Given the description of an element on the screen output the (x, y) to click on. 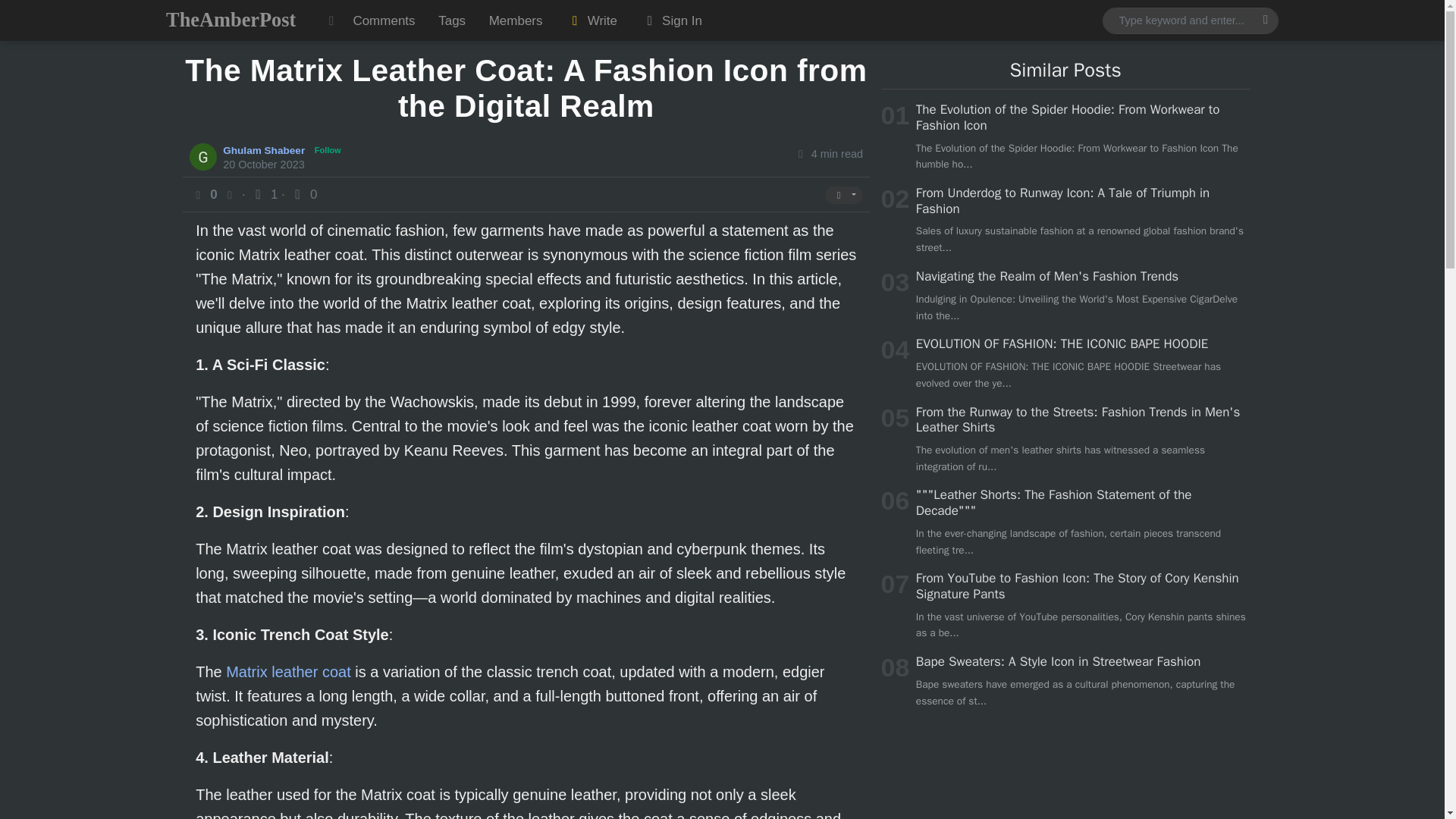
Matrix leather coat (287, 671)
Sign In (670, 20)
Members (515, 20)
"""Leather Shorts: The Fashion Statement of the Decade""" (1053, 501)
Ghulam Shabeer (265, 149)
Toggle dark mode (330, 20)
From Underdog to Runway Icon: A Tale of Triumph in Fashion (1062, 200)
Bape Sweaters: A Style Icon in Streetwear Fashion (1057, 661)
TheAmberPost (230, 20)
Tags (451, 20)
0 (302, 194)
Follow (327, 150)
Write (591, 20)
